Given the description of an element on the screen output the (x, y) to click on. 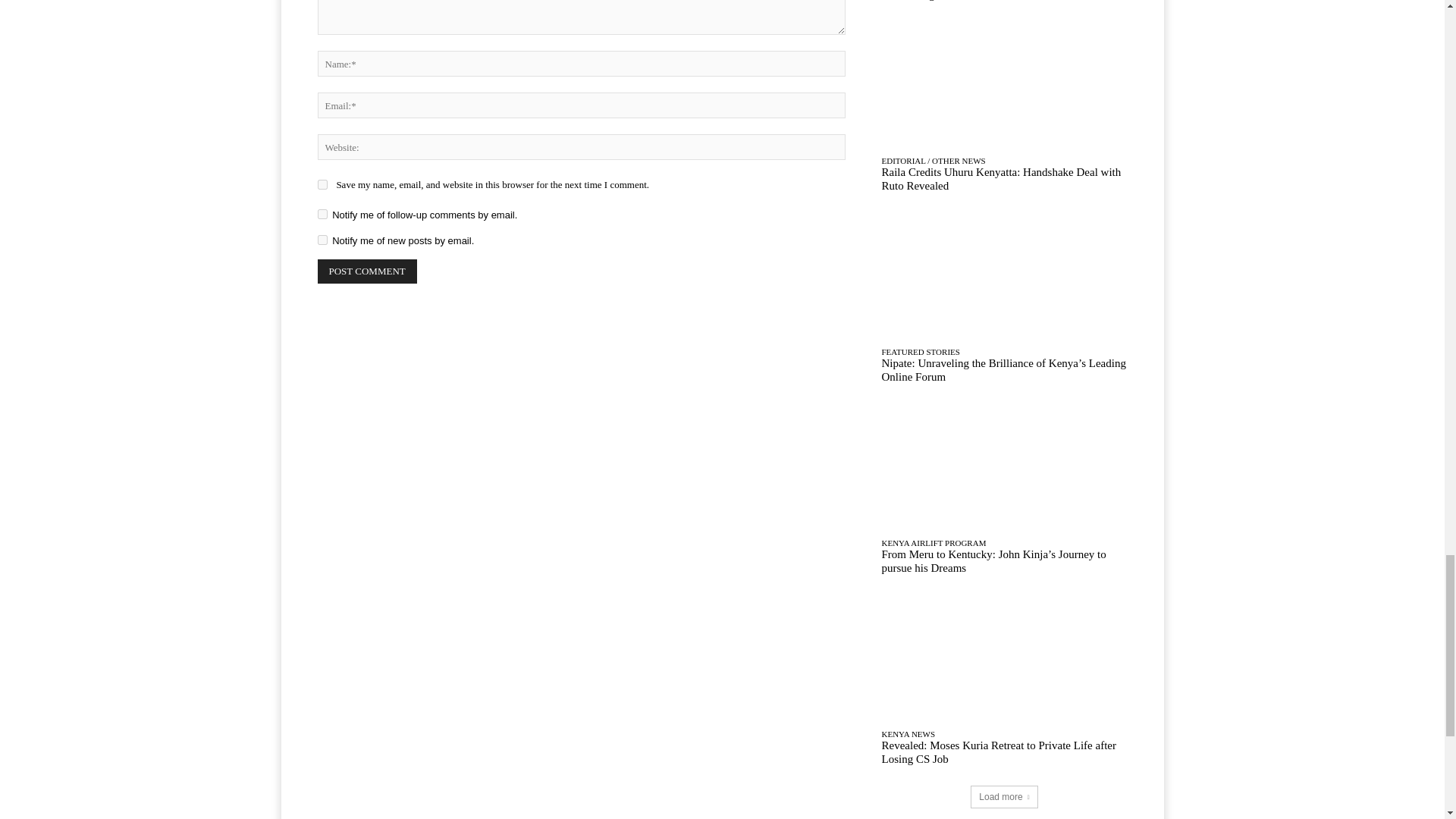
yes (321, 184)
Post Comment (366, 271)
subscribe (321, 239)
subscribe (321, 214)
